Given the description of an element on the screen output the (x, y) to click on. 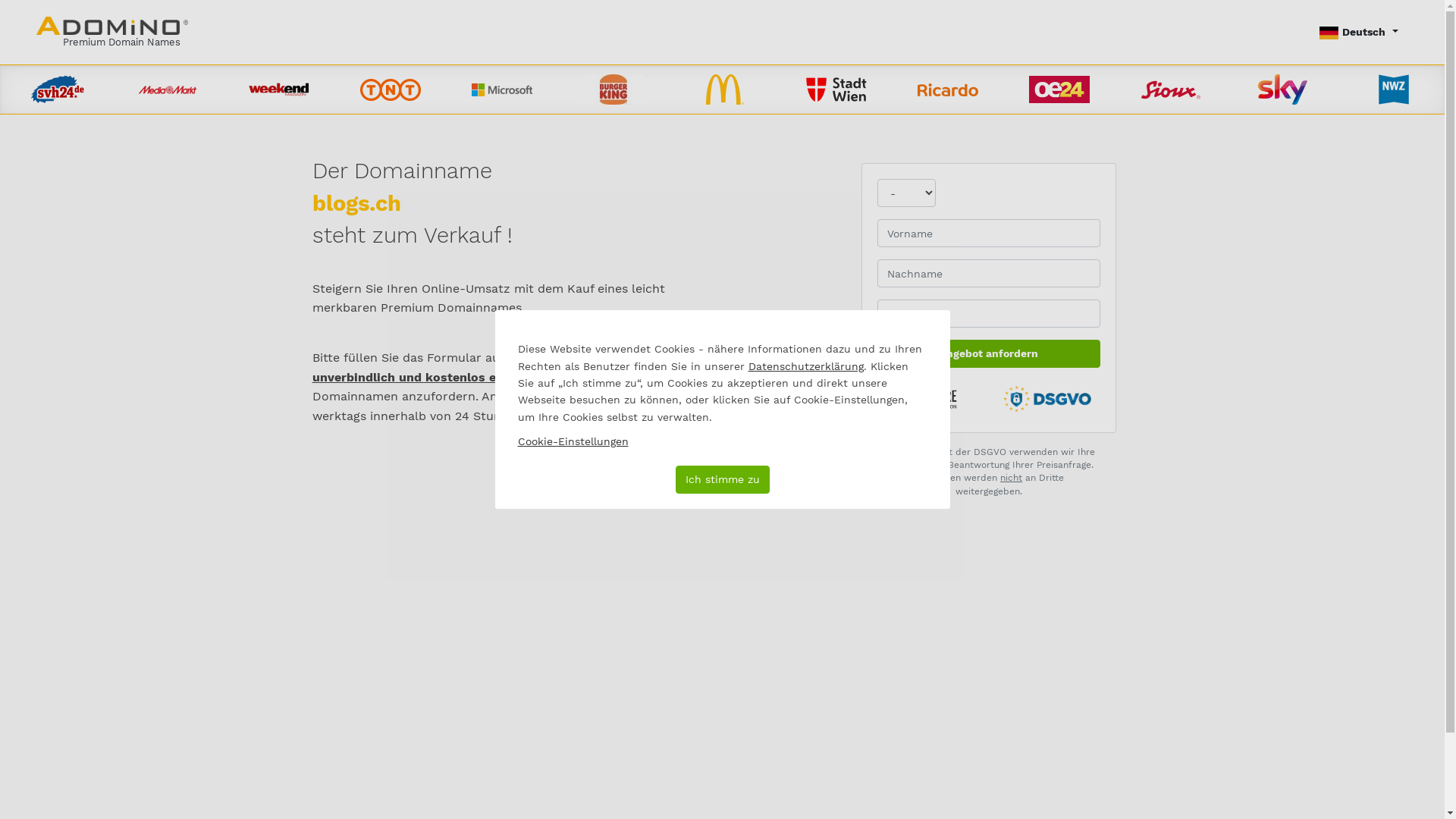
Premium Domain Names Element type: text (112, 31)
Cookie-Einstellungen Element type: text (572, 441)
Angebot anfordern Element type: text (989, 353)
Ich stimme zu Element type: text (721, 479)
Deutsch Element type: text (1358, 32)
